Given the description of an element on the screen output the (x, y) to click on. 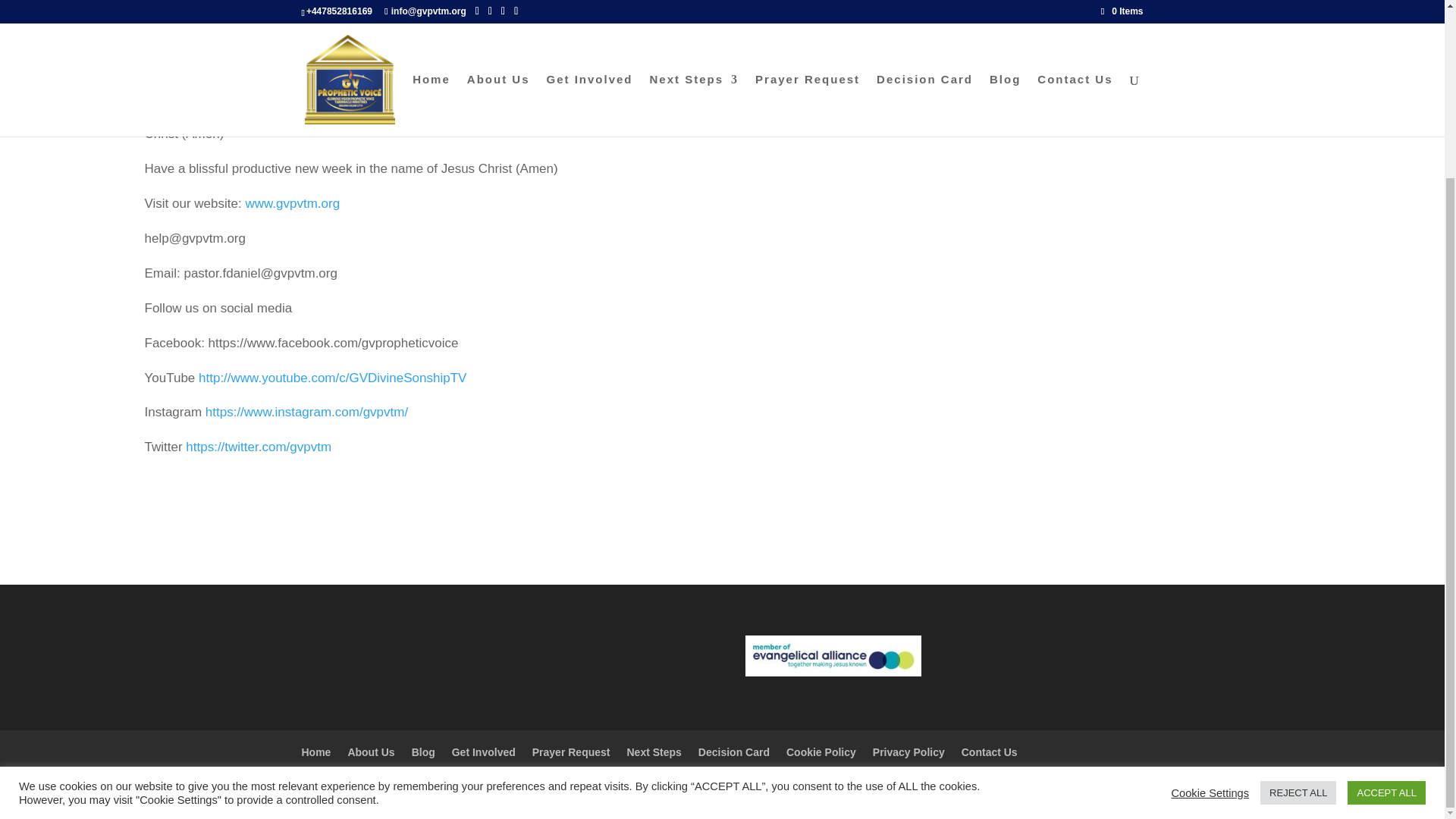
About Us (370, 752)
Prayer Request (571, 752)
www.gvpvtm.org (291, 203)
Home (316, 752)
Blog (423, 752)
Get Involved (483, 752)
